Given the description of an element on the screen output the (x, y) to click on. 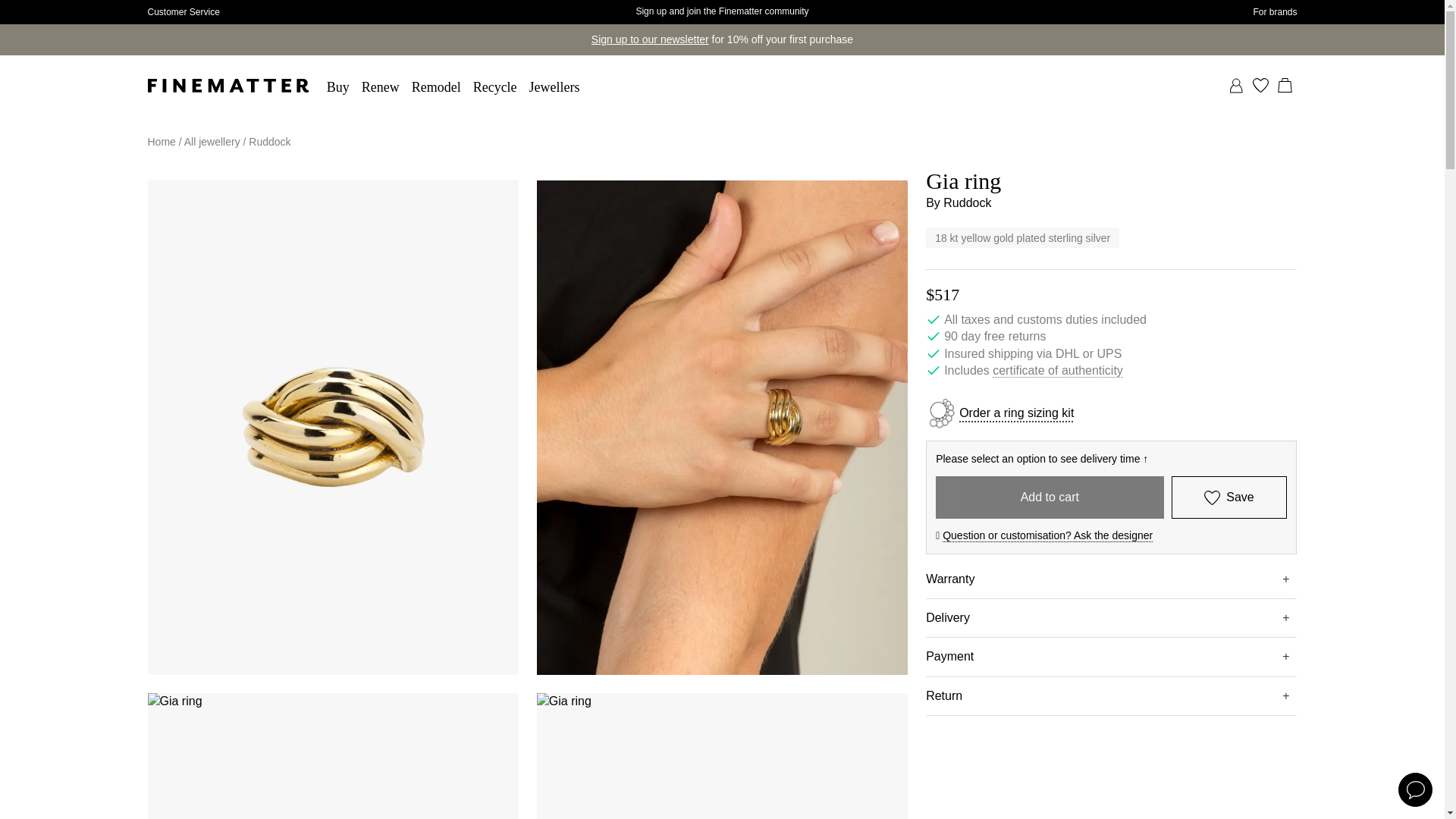
All jewellery (212, 141)
Finematter home (227, 85)
Sign up to our newsletter (650, 39)
Sign up and join the Finematter community (721, 10)
Customer Service (183, 11)
Ruddock (268, 141)
Home (160, 141)
My account (1235, 85)
Save (1229, 496)
Ruddock (967, 202)
